Given the description of an element on the screen output the (x, y) to click on. 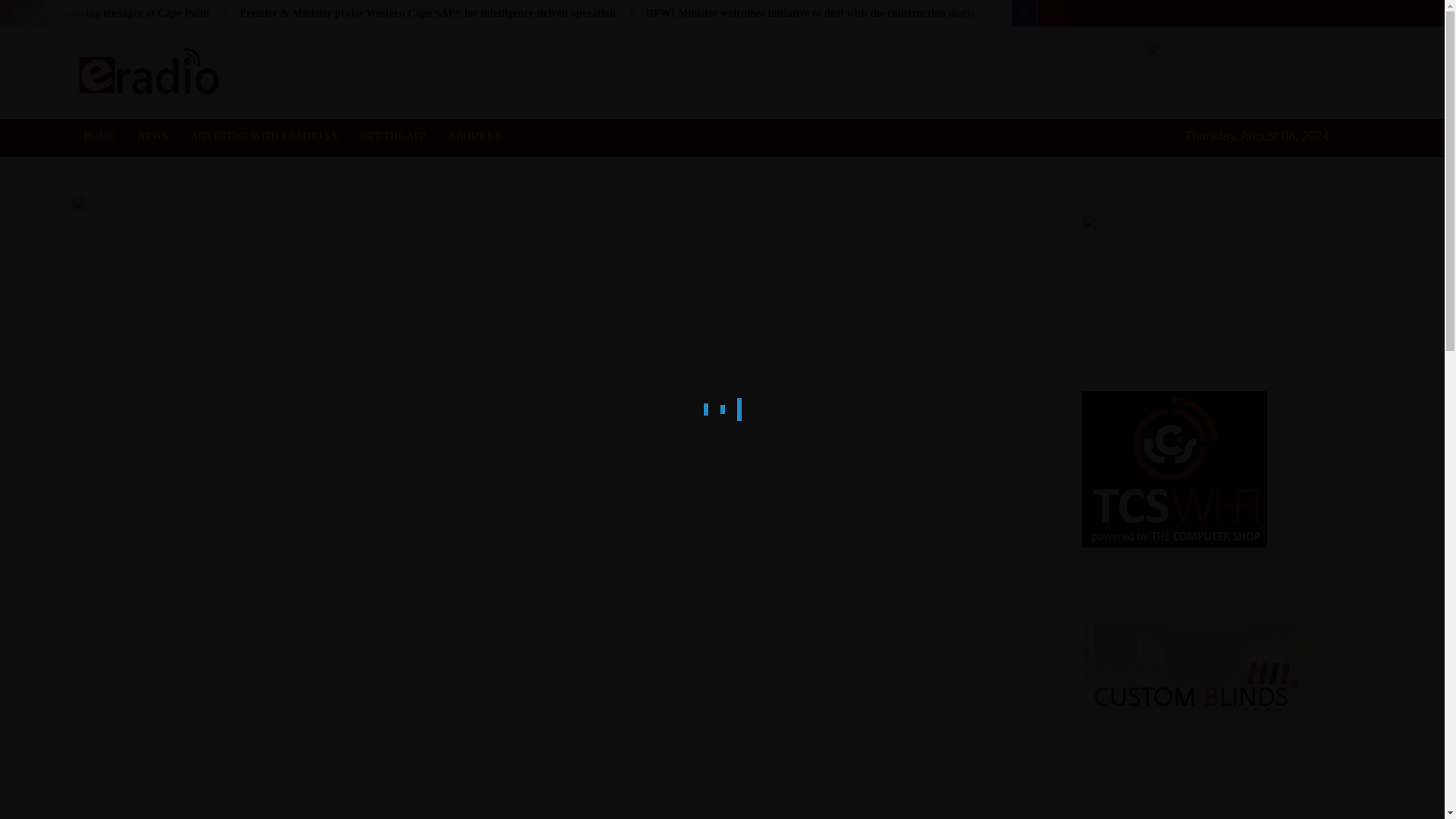
No sign of missing teenager at Cape Point (111, 12)
ERADIO (297, 89)
ADVERTISE WITH ERADIO SA (264, 135)
GET THE APP (393, 135)
HOME (98, 135)
No sign of missing teenager at Cape Point (111, 12)
NEWS (152, 135)
youtube (1051, 13)
ABOUT US (474, 135)
facebook (1024, 13)
